Given the description of an element on the screen output the (x, y) to click on. 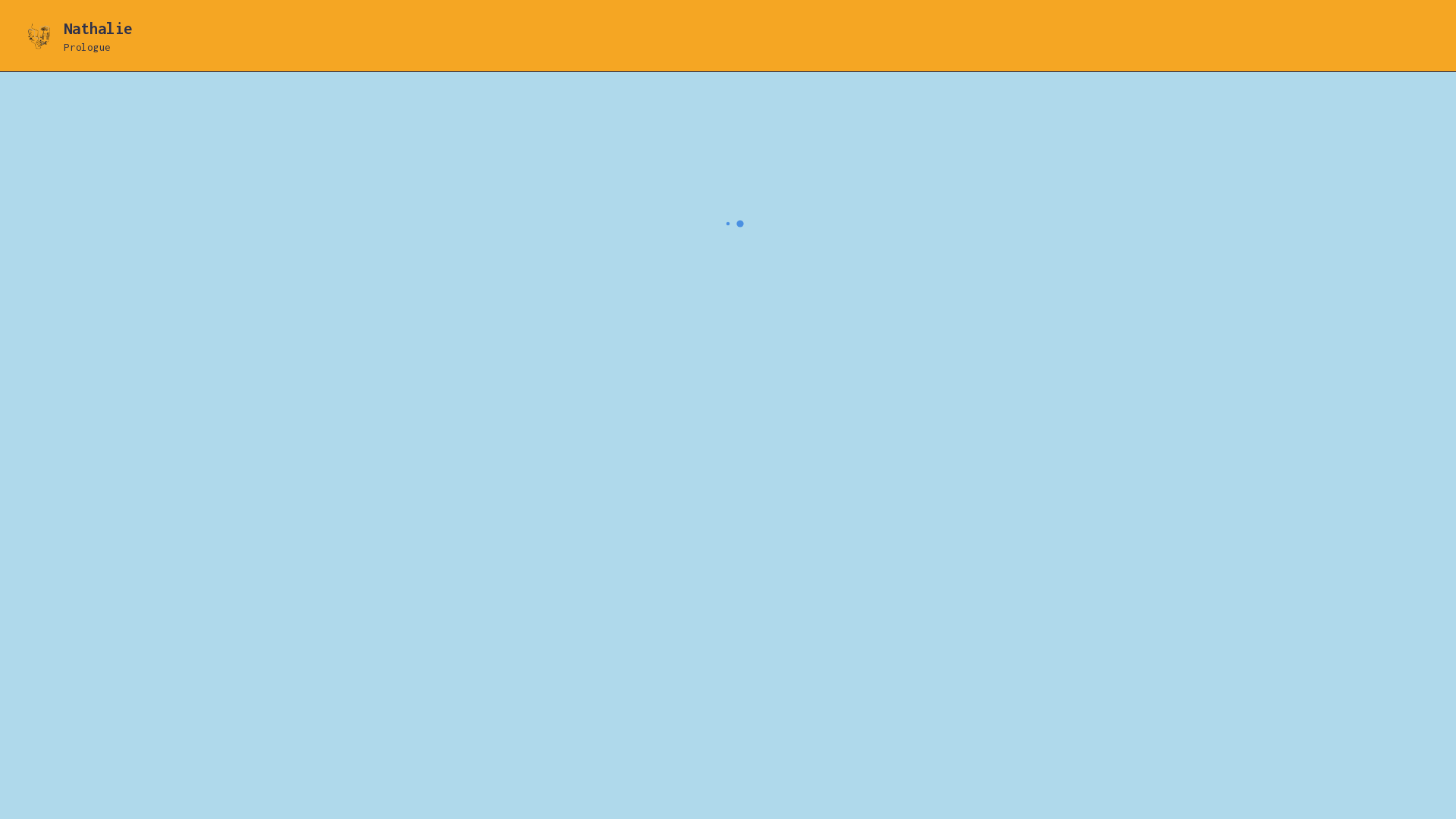
induction.center Element type: text (232, 313)
induction.center Element type: text (254, 60)
Proudly powered by WordPress. Element type: text (365, 313)
